Given the description of an element on the screen output the (x, y) to click on. 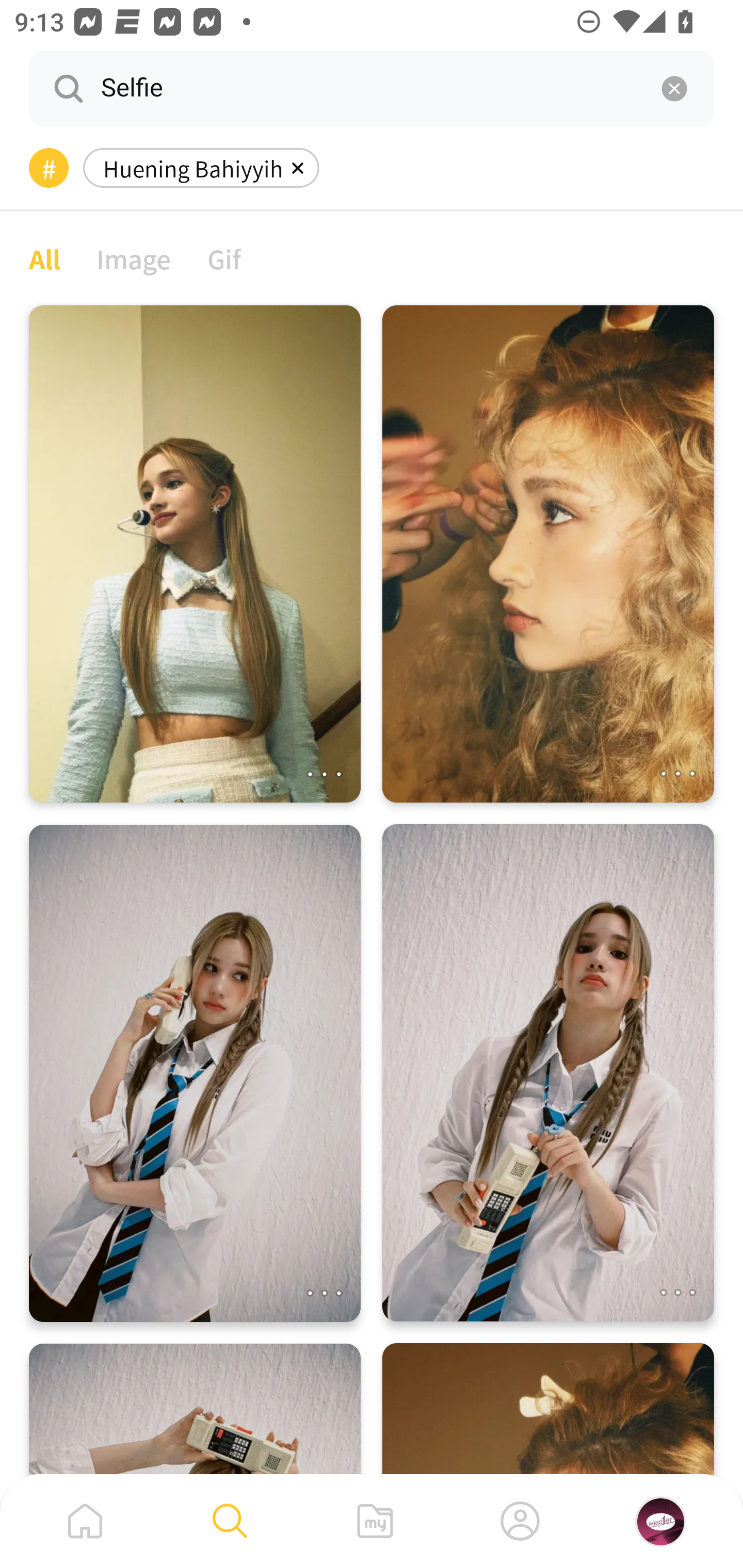
All (44, 257)
Image (133, 257)
Gif (223, 257)
